Given the description of an element on the screen output the (x, y) to click on. 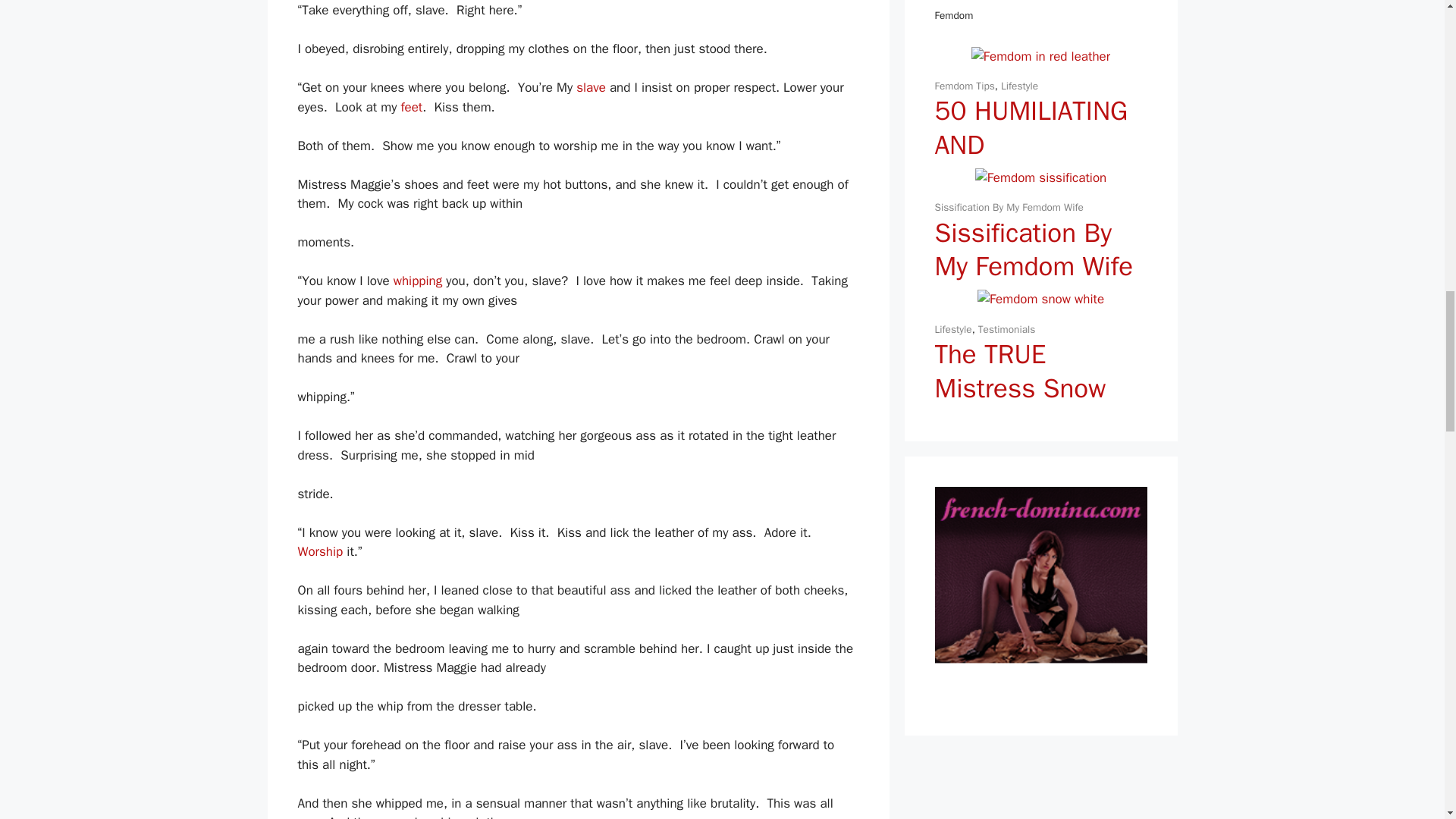
slave (590, 87)
feet (411, 107)
whipping (417, 280)
sex (306, 816)
Worship (319, 551)
